Given the description of an element on the screen output the (x, y) to click on. 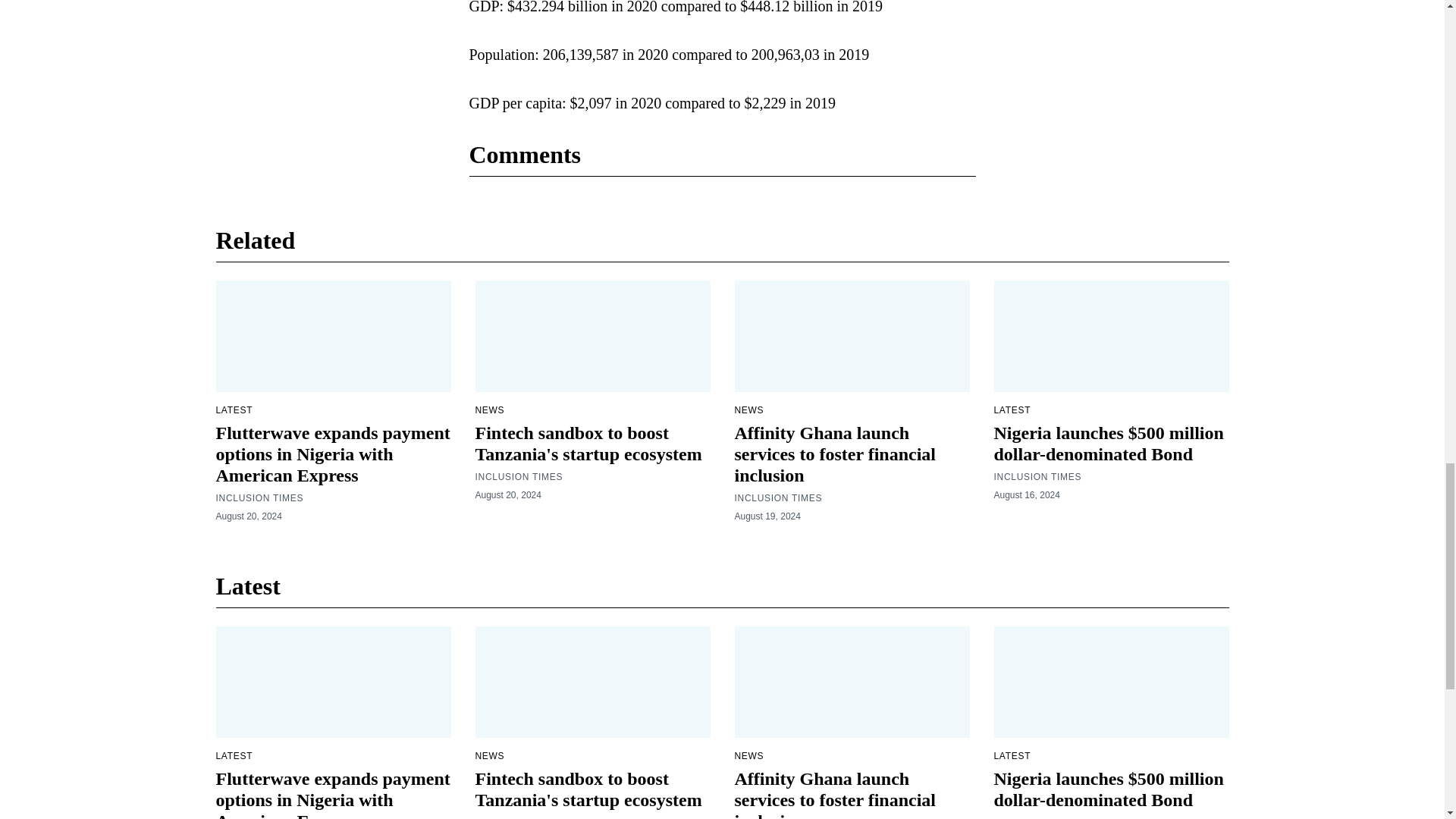
NEWS (747, 409)
LATEST (233, 409)
INCLUSION TIMES (258, 498)
LATEST (1011, 409)
INCLUSION TIMES (518, 476)
Affinity Ghana launch services to foster financial inclusion (834, 454)
INCLUSION TIMES (777, 498)
INCLUSION TIMES (1036, 476)
NEWS (488, 409)
